Given the description of an element on the screen output the (x, y) to click on. 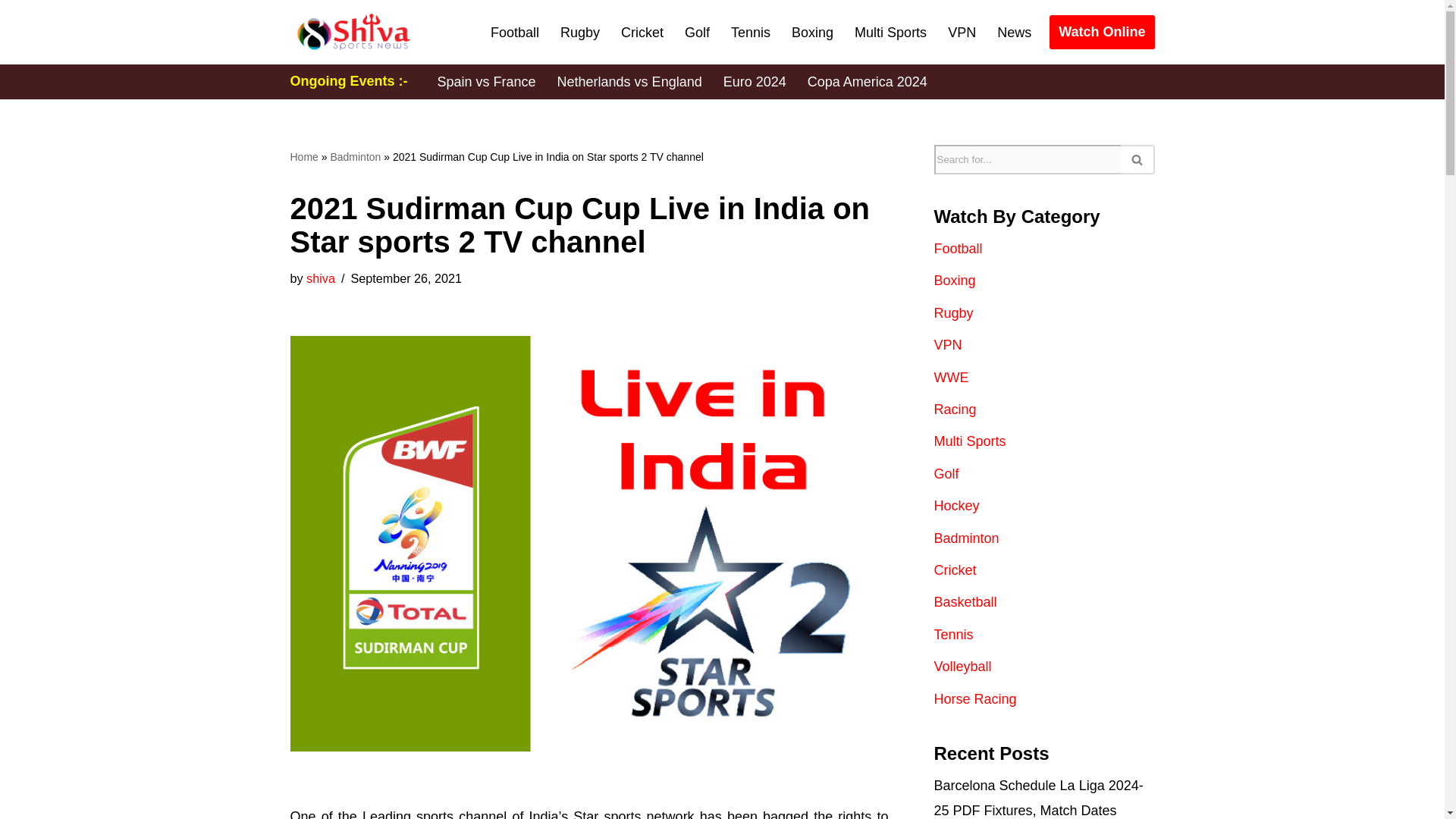
Badminton (355, 156)
Football (514, 32)
Spain vs France (485, 81)
Cricket (642, 32)
Netherlands vs England (629, 81)
Multi Sports (890, 32)
shiva (319, 278)
Rugby (579, 32)
Boxing (812, 32)
